Given the description of an element on the screen output the (x, y) to click on. 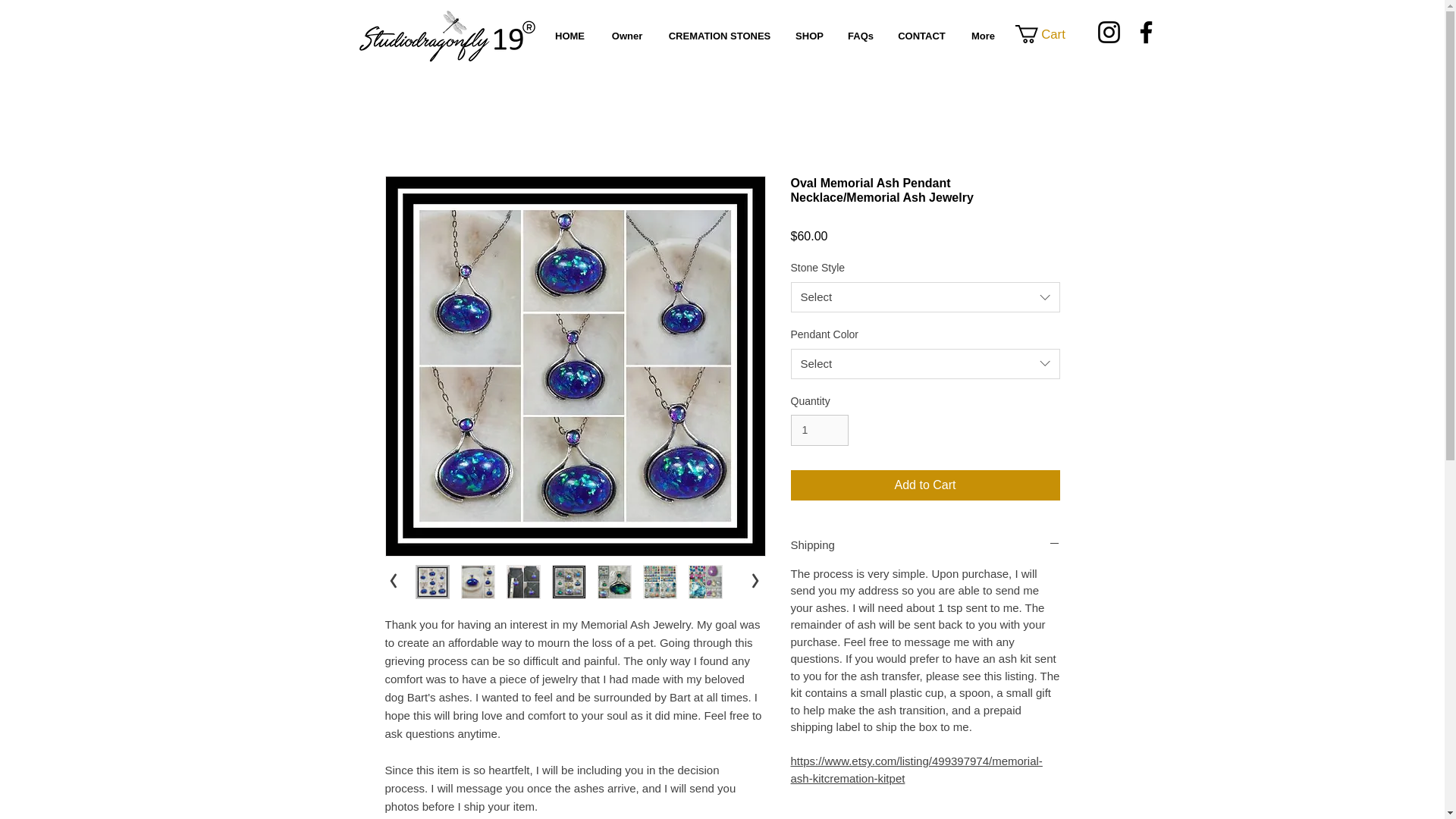
FAQs (860, 36)
Owner (626, 36)
SHOP (809, 36)
Add to Cart (924, 485)
CREMATION STONES (719, 36)
Cart (1048, 34)
Shipping (924, 544)
Select (924, 296)
Cart (1048, 34)
HOME (568, 36)
Select (924, 363)
CONTACT (921, 36)
1 (818, 429)
